Given the description of an element on the screen output the (x, y) to click on. 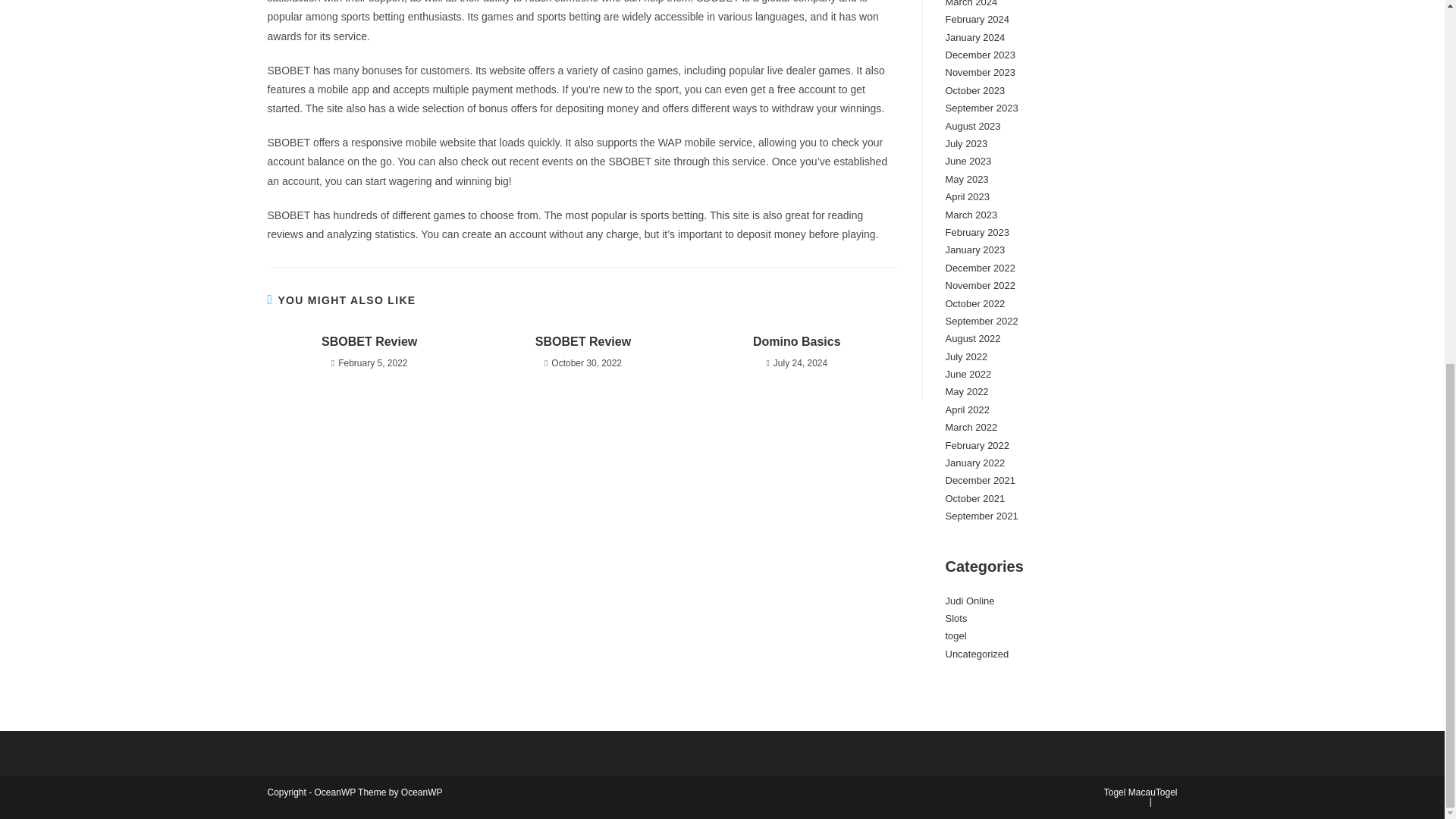
September 2023 (980, 107)
February 2024 (976, 19)
December 2023 (979, 54)
October 2023 (974, 90)
SBOBET Review (582, 341)
January 2024 (974, 37)
November 2023 (979, 71)
Domino Basics (796, 341)
SBOBET Review (368, 341)
March 2024 (970, 3)
